Given the description of an element on the screen output the (x, y) to click on. 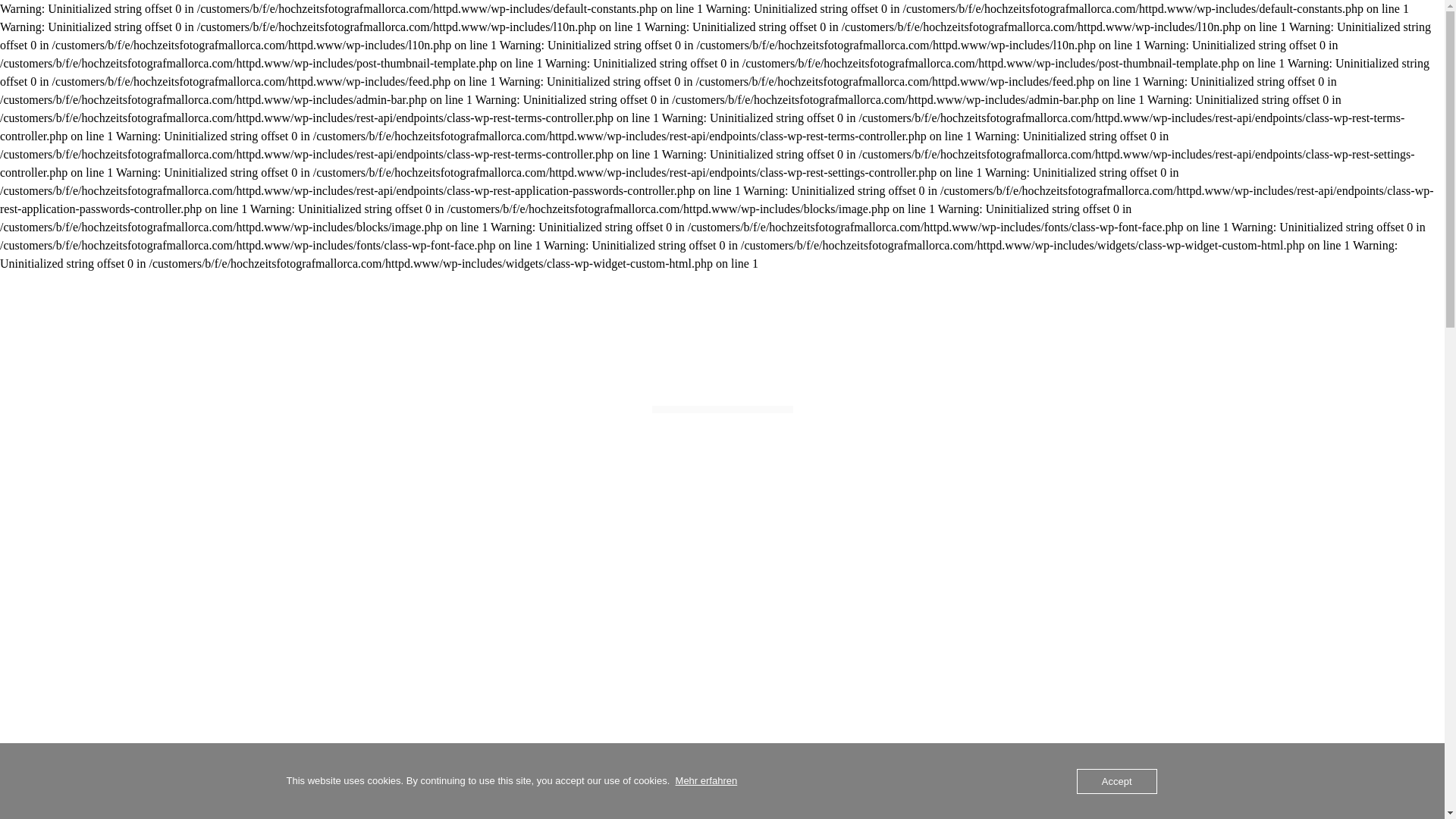
Mehr erfahren (706, 780)
Accept (1117, 781)
